Given the description of an element on the screen output the (x, y) to click on. 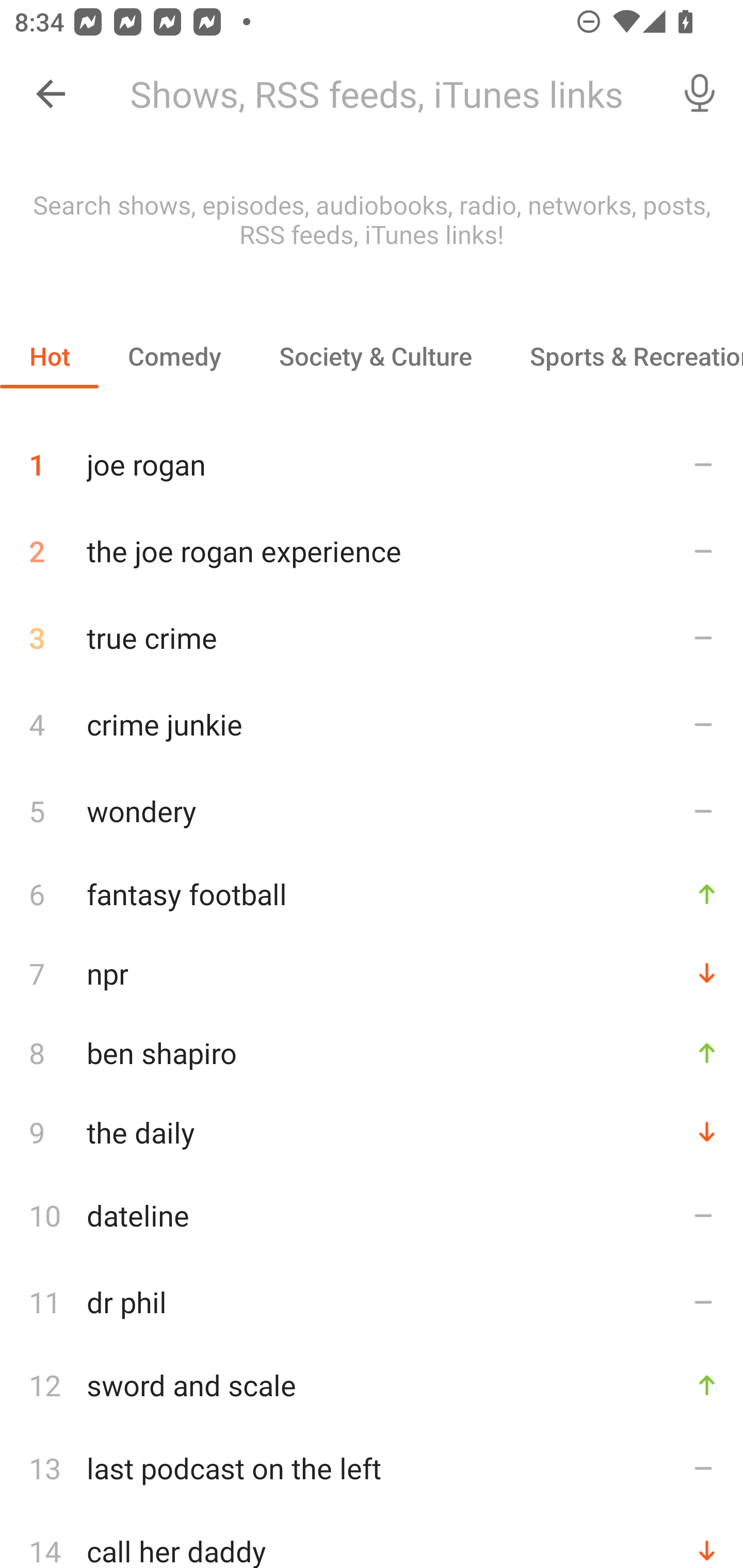
Collapse (50, 93)
Voice Search (699, 93)
Shows, RSS feeds, iTunes links (385, 94)
Hot (49, 355)
Comedy (173, 355)
Society & Culture (374, 355)
Sports & Recreation (621, 355)
1 joe rogan (371, 457)
2 the joe rogan experience (371, 551)
3 true crime (371, 637)
4 crime junkie (371, 723)
5 wondery (371, 810)
6 fantasy football (371, 893)
7 npr (371, 972)
8 ben shapiro (371, 1052)
9 the daily (371, 1131)
10 dateline (371, 1215)
11 dr phil (371, 1302)
12 sword and scale (371, 1385)
13 last podcast on the left (371, 1468)
14 call her daddy (371, 1539)
